Given the description of an element on the screen output the (x, y) to click on. 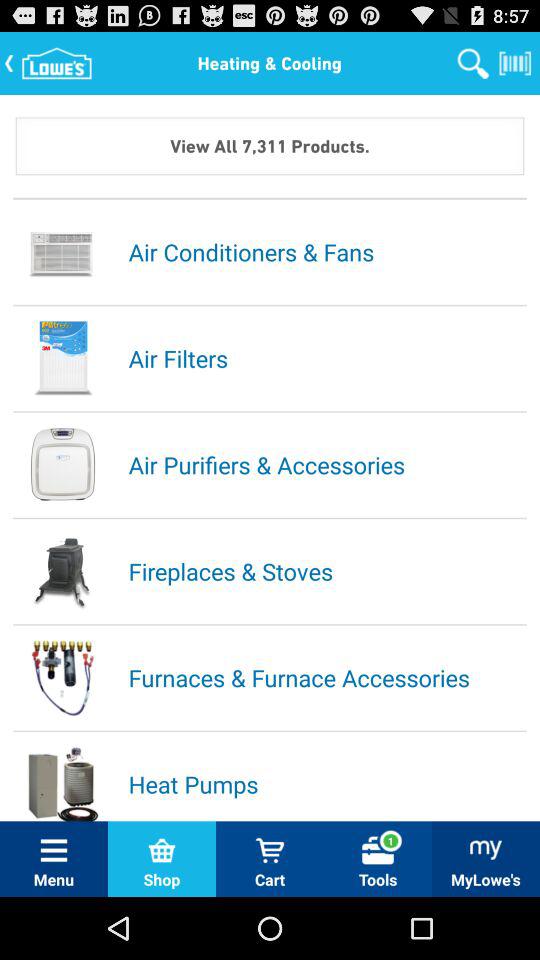
press the view all 7 (269, 145)
